Given the description of an element on the screen output the (x, y) to click on. 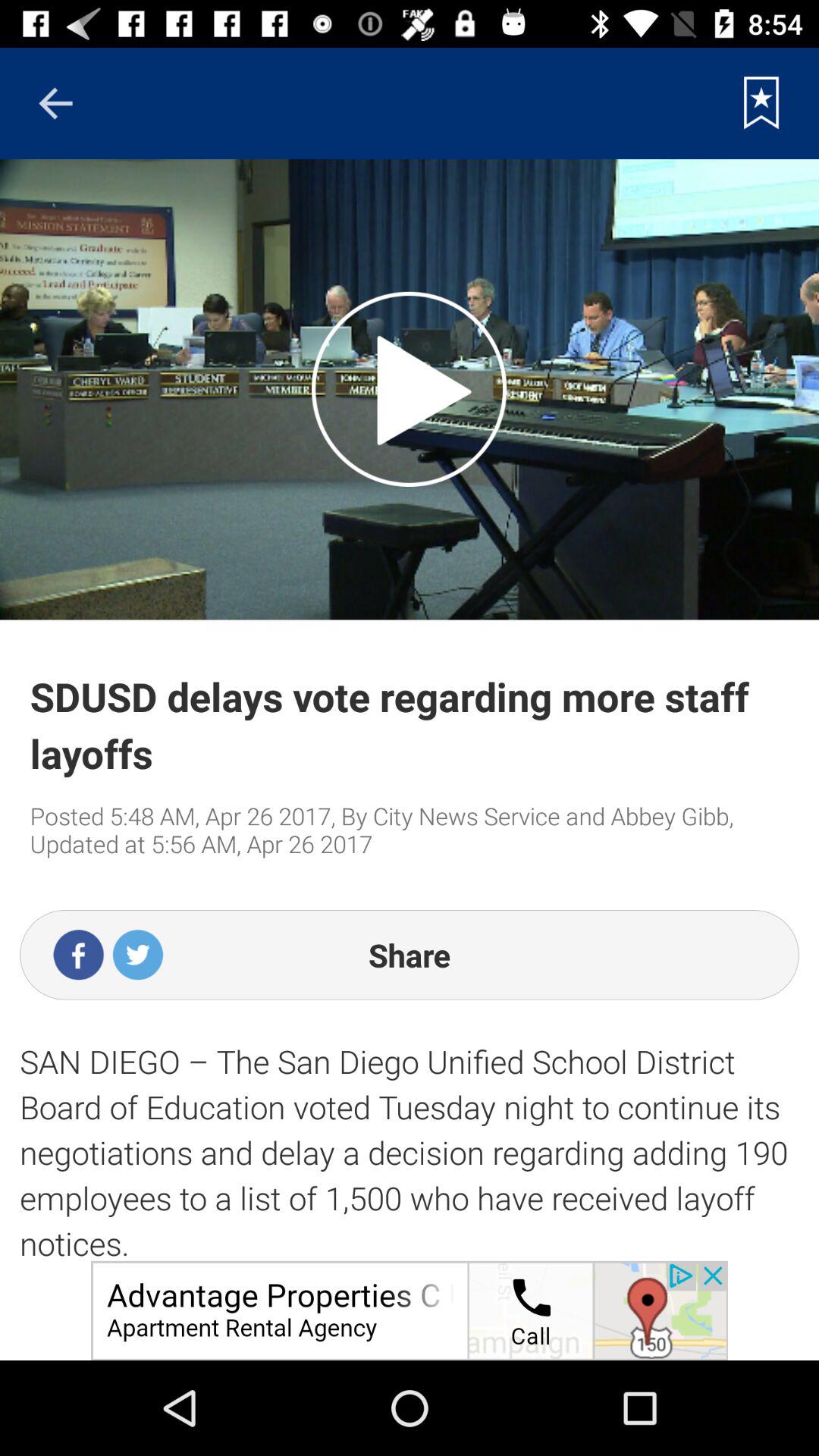
play (408, 388)
